Given the description of an element on the screen output the (x, y) to click on. 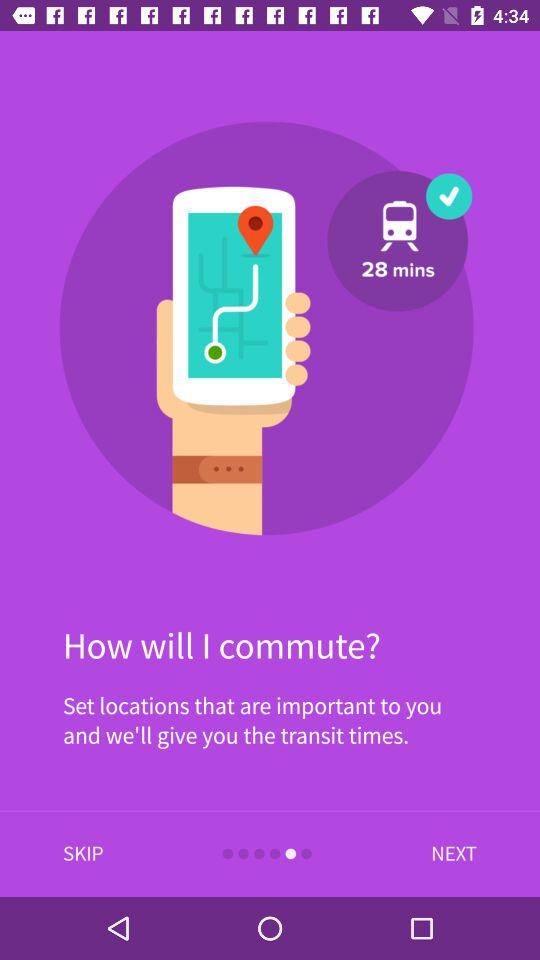
tap the item below the set locations that item (83, 853)
